Given the description of an element on the screen output the (x, y) to click on. 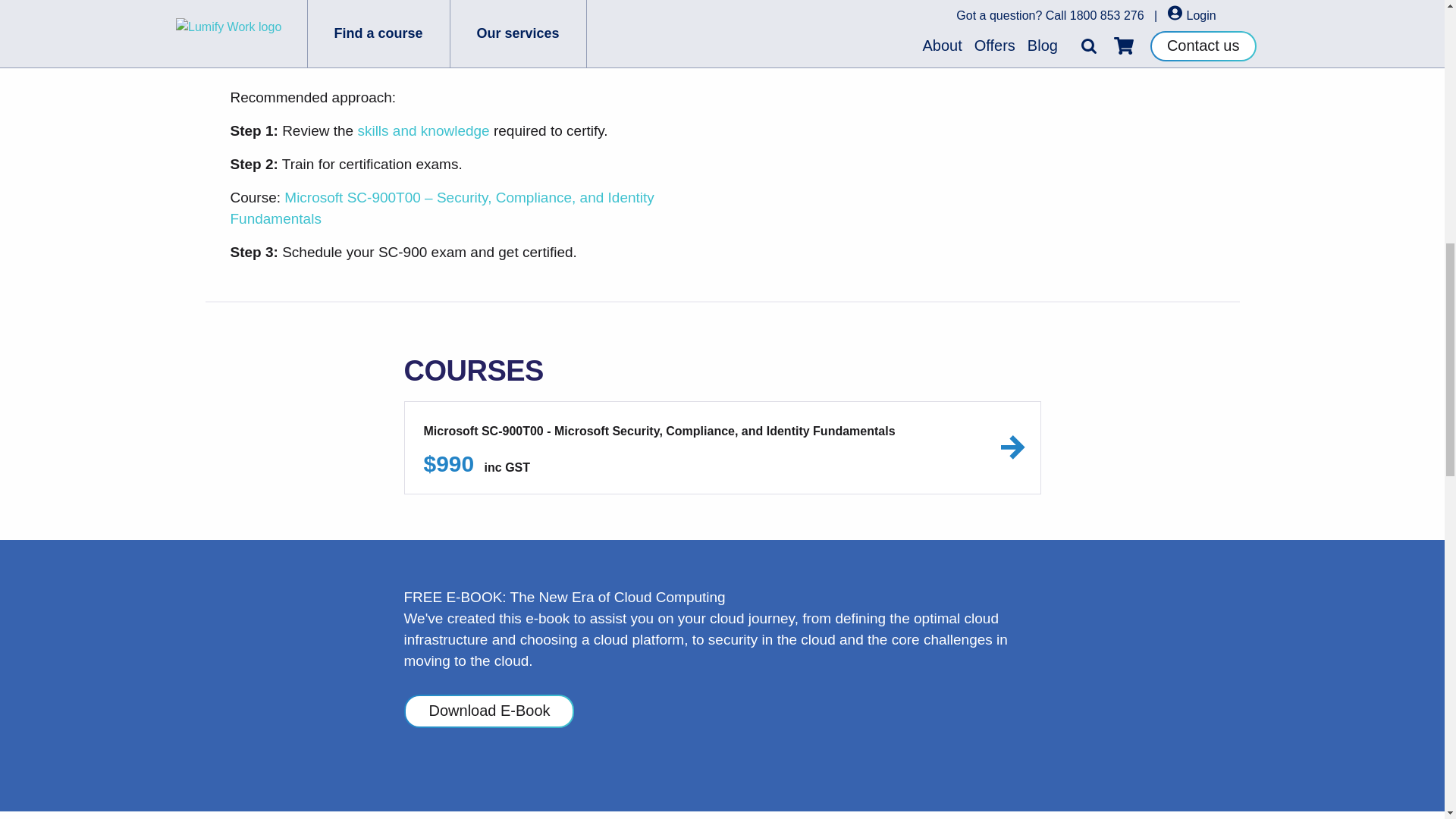
Download E-Book (488, 711)
skills and knowledge (422, 130)
